Given the description of an element on the screen output the (x, y) to click on. 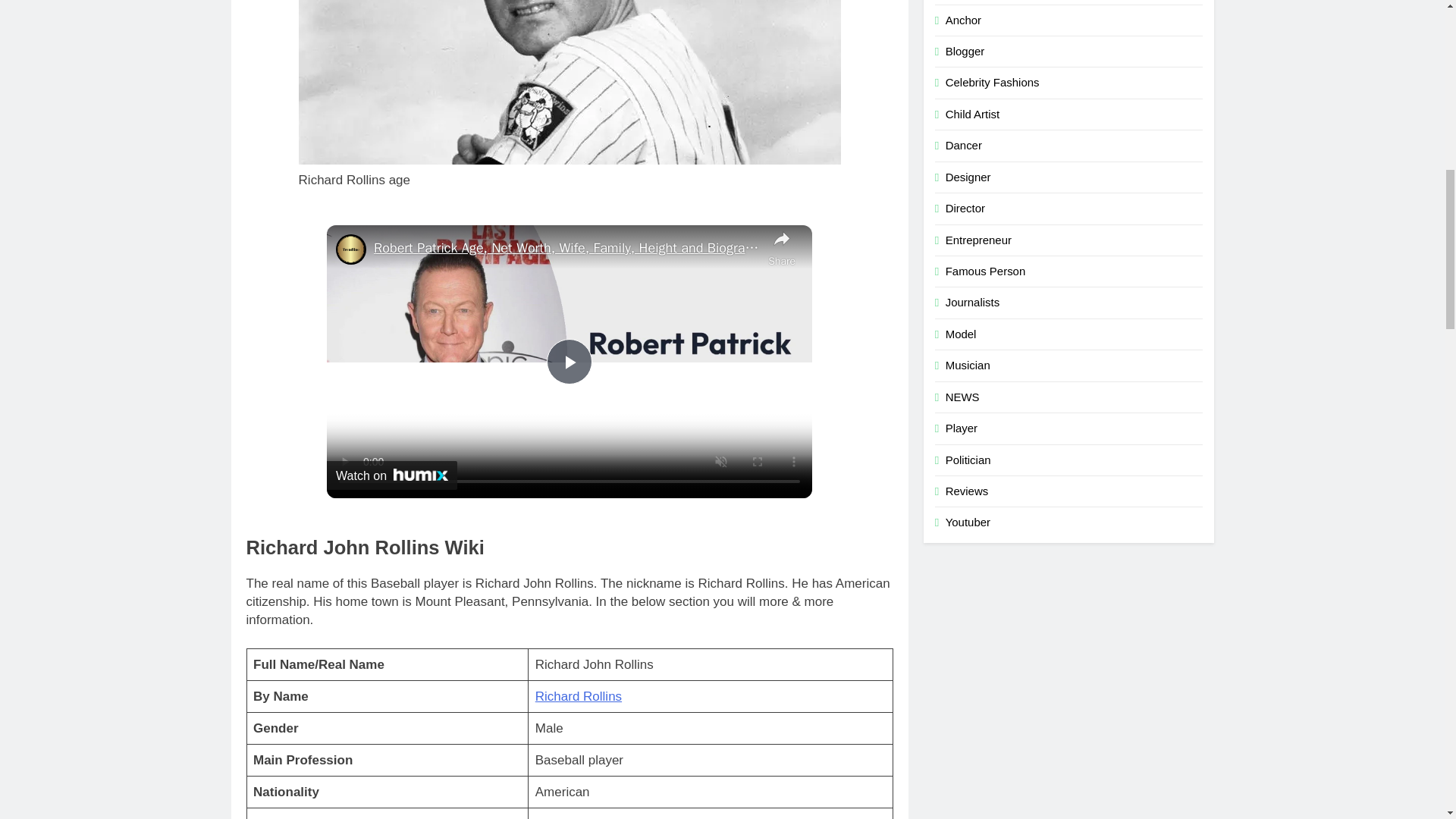
Richard Rollins (578, 696)
Play Video (569, 361)
Play Video (569, 361)
Watch on (391, 475)
